Given the description of an element on the screen output the (x, y) to click on. 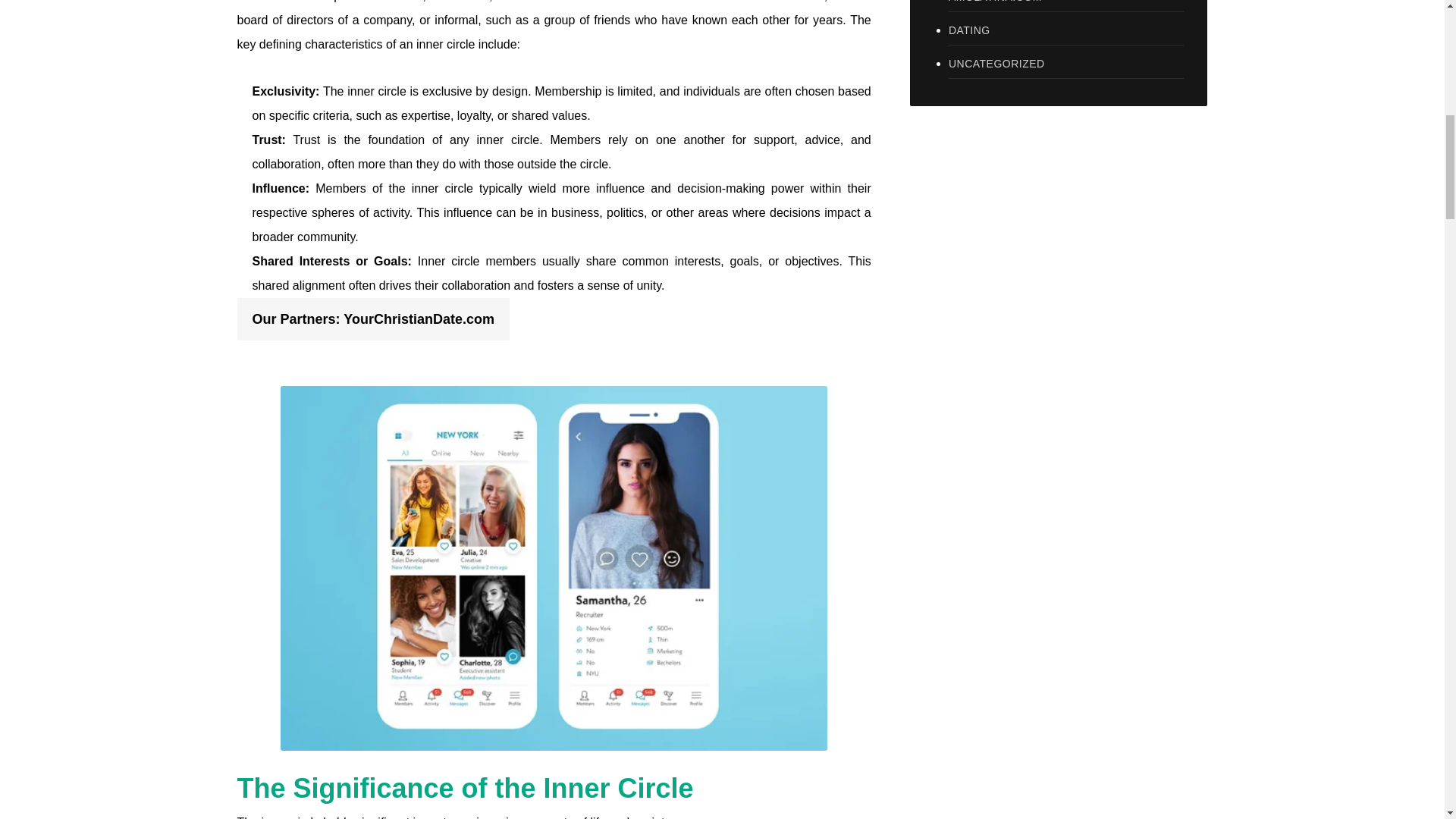
UNCATEGORIZED (1066, 63)
YourChristianDate.com (419, 319)
AMOLATINA.COM (1066, 6)
DATING (1066, 30)
